Given the description of an element on the screen output the (x, y) to click on. 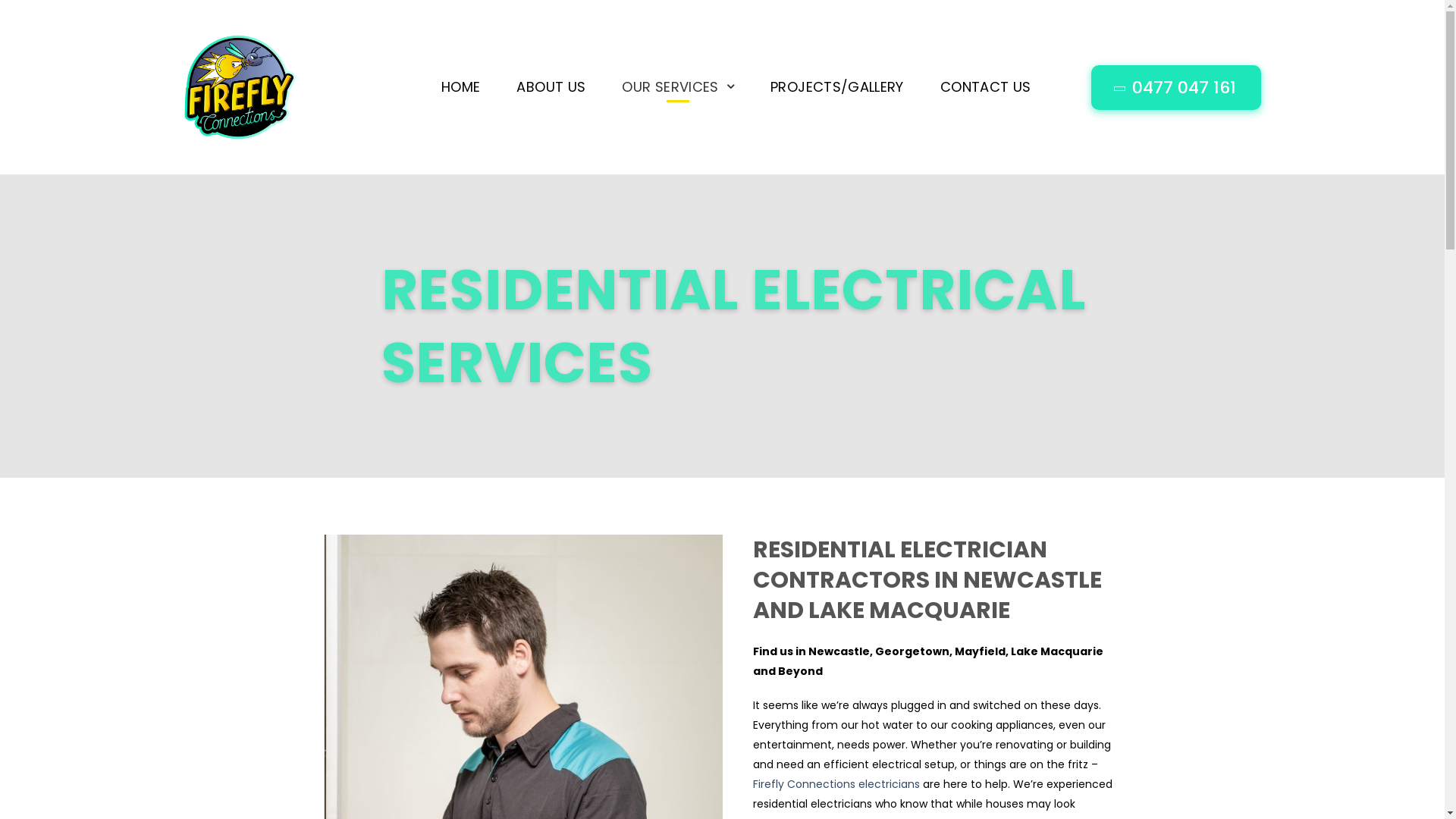
Firefly Connections electricians Element type: text (835, 783)
ABOUT US Element type: text (550, 87)
Firefly Connections - Firefly Connections Element type: hover (239, 86)
HOME Element type: text (460, 87)
0477 047 161 Element type: text (1175, 87)
PROJECTS/GALLERY Element type: text (836, 87)
CONTACT US Element type: text (985, 87)
OUR SERVICES Element type: text (677, 87)
